Given the description of an element on the screen output the (x, y) to click on. 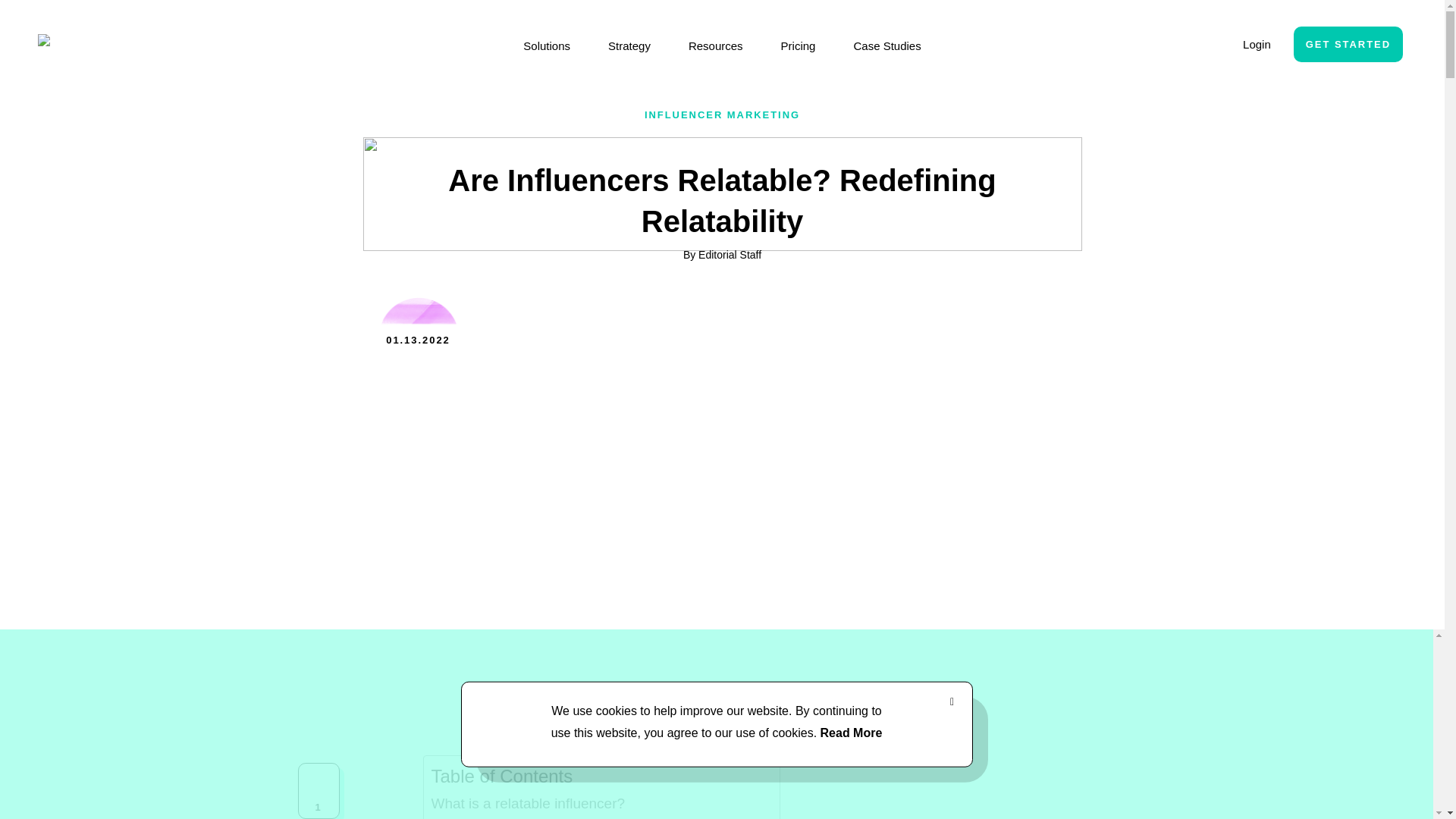
Strategy (629, 46)
Login (1257, 44)
Pricing (797, 46)
Case Studies (886, 46)
Who are these relatable influencers? (547, 816)
Solutions (546, 46)
GET STARTED (1348, 43)
Resources (715, 46)
